Given the description of an element on the screen output the (x, y) to click on. 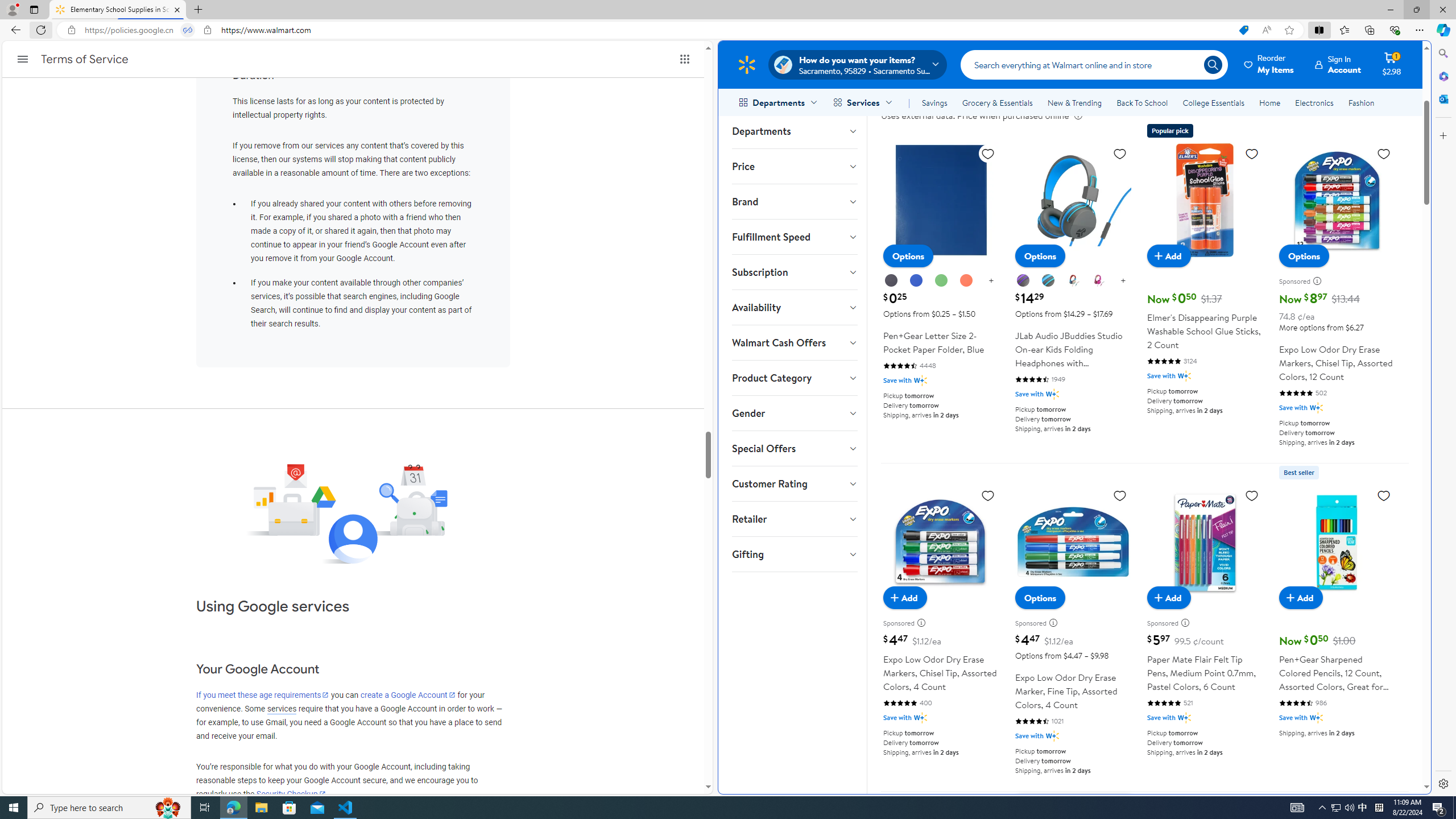
Grocery & Essentials (997, 102)
Blue (916, 280)
Customer Rating (794, 483)
Ad disclaimer and feedback (1187, 622)
Gray (1048, 280)
This site has coupons! Shopping in Microsoft Edge, 7 (1243, 29)
show more color options (1122, 280)
Savings (933, 102)
Savings (933, 102)
Sign In Account (1338, 64)
